Given the description of an element on the screen output the (x, y) to click on. 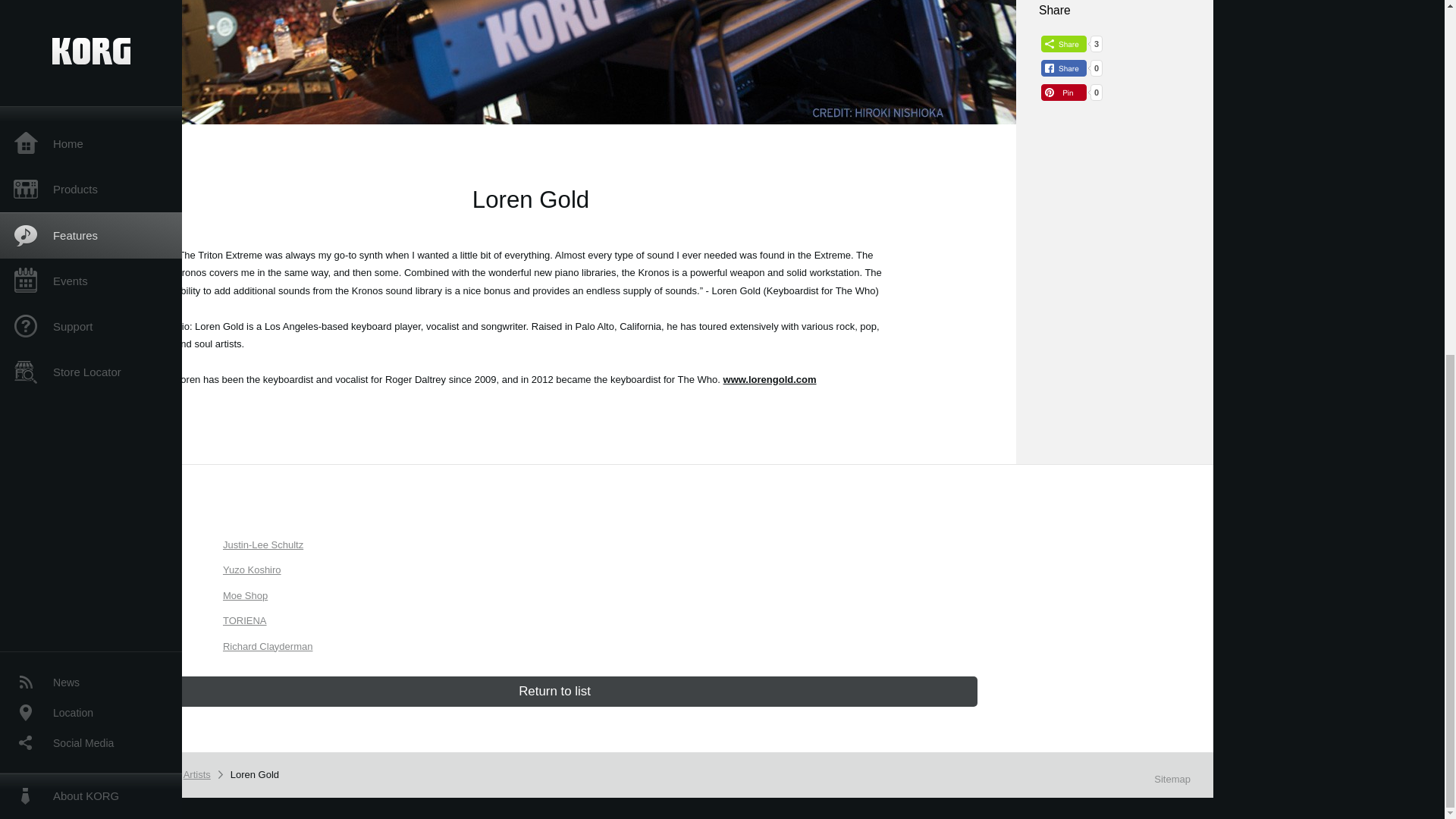
Home (91, 774)
Social Media (91, 120)
Loren Gold (256, 774)
Sitemap (1172, 778)
Location (91, 90)
About KORG (91, 173)
TORIENA (244, 620)
Yuzo Koshiro (251, 569)
Artists (199, 774)
Moe Shop (244, 595)
